Given the description of an element on the screen output the (x, y) to click on. 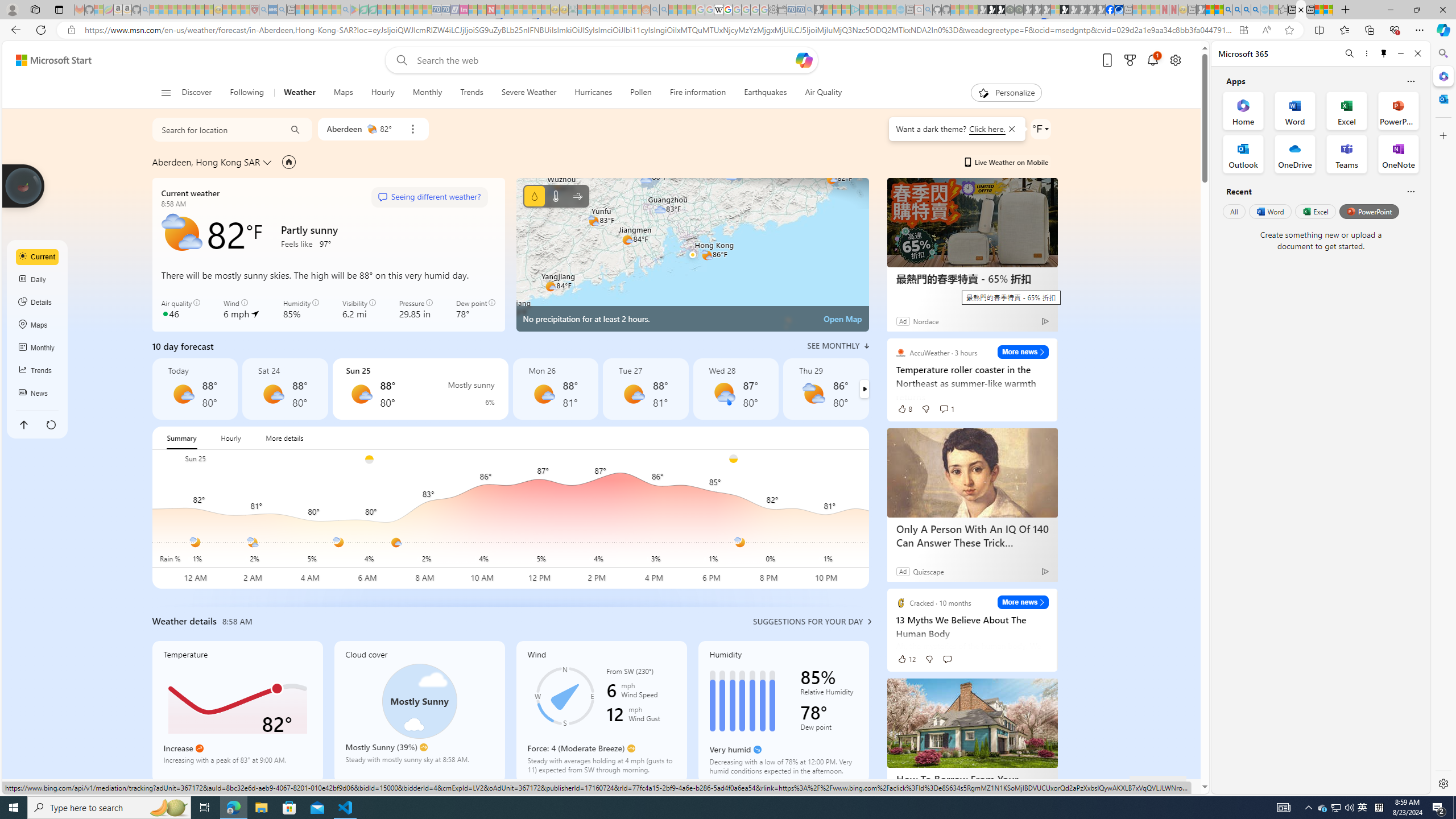
Back to top (23, 424)
Precipitation (480, 401)
Local - MSN - Sleeping (244, 9)
Current (37, 256)
OneDrive Office App (1295, 154)
